Given the description of an element on the screen output the (x, y) to click on. 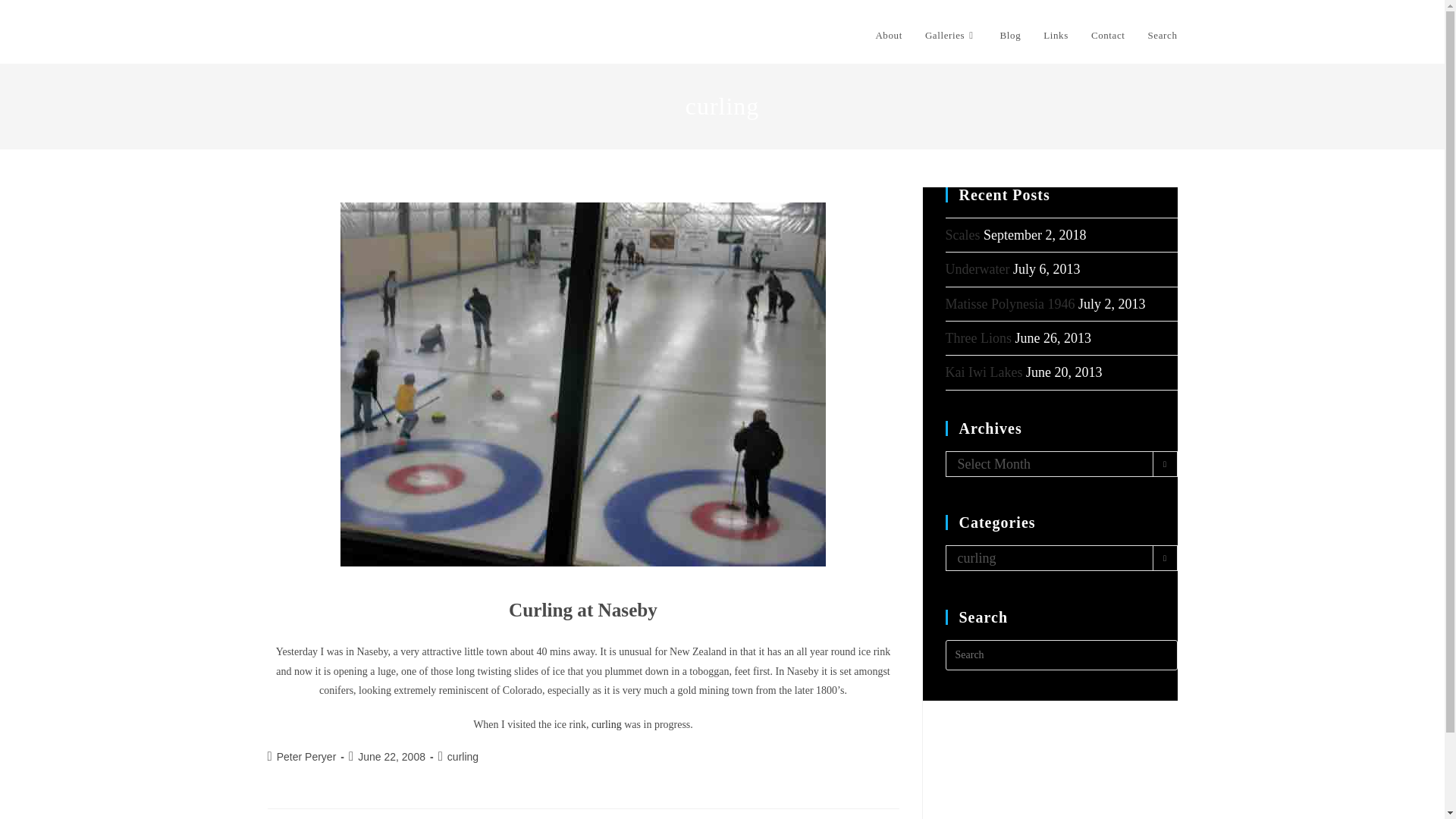
About (888, 35)
Posts by Peter Peryer (306, 756)
Galleries (951, 35)
Underwater (976, 268)
Peter Peryer (306, 756)
curling (462, 756)
Scales (961, 234)
Contact (1108, 35)
Peter Peryer (315, 34)
Search (1163, 35)
